Given the description of an element on the screen output the (x, y) to click on. 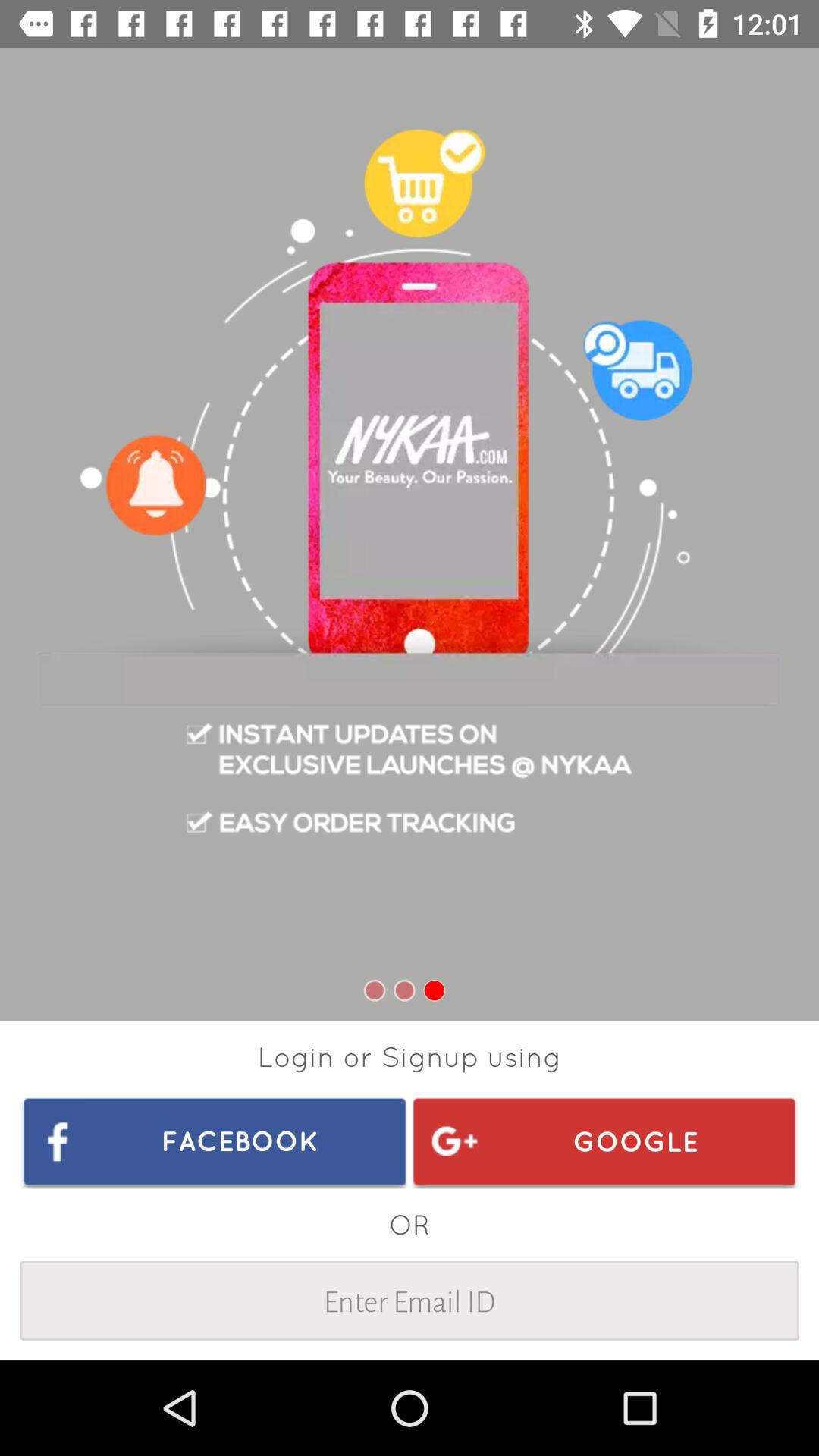
turn off the icon at the bottom right corner (604, 1140)
